Given the description of an element on the screen output the (x, y) to click on. 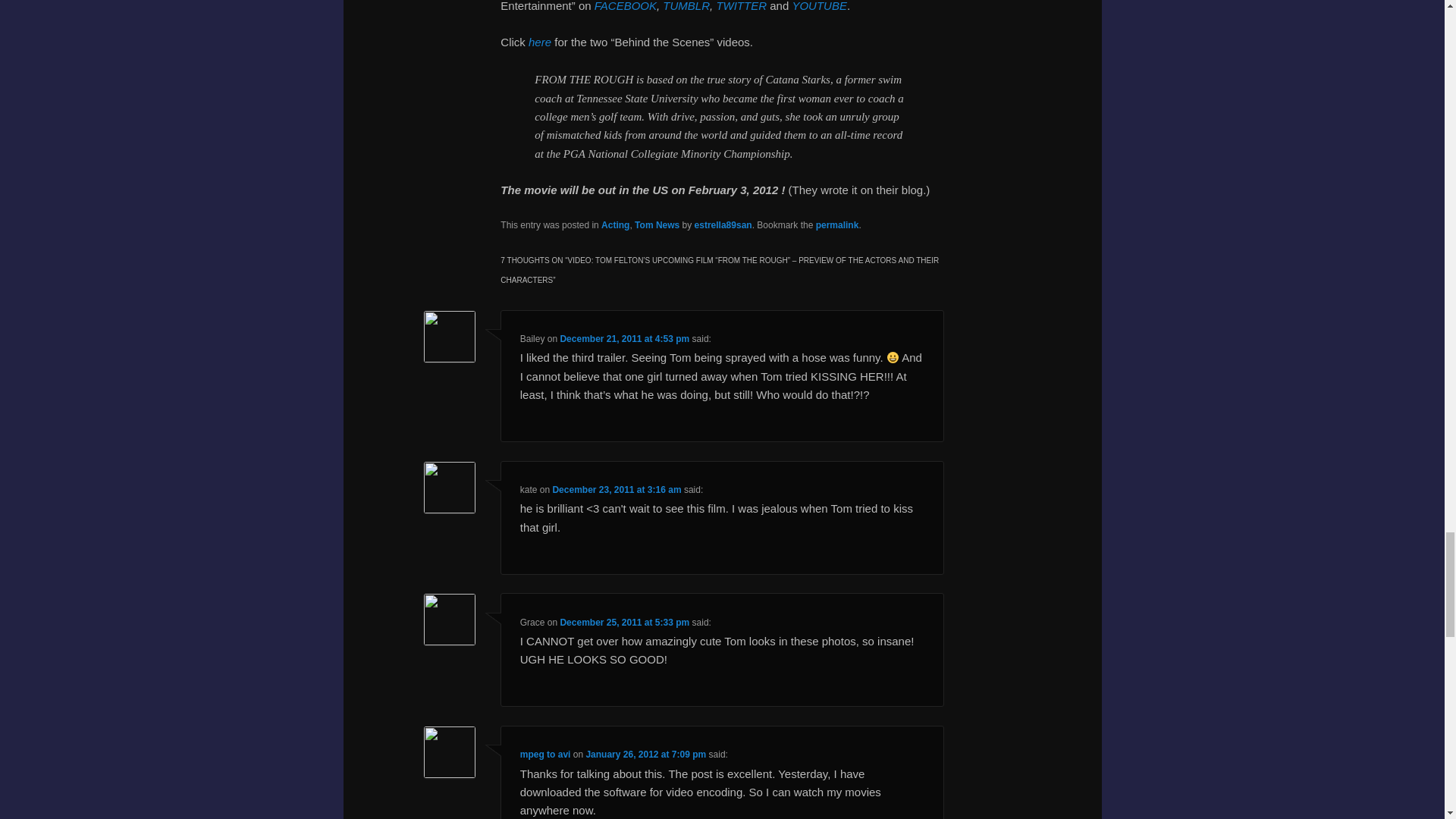
Facebook (625, 6)
Twitter (741, 6)
YouTube (819, 6)
